Given the description of an element on the screen output the (x, y) to click on. 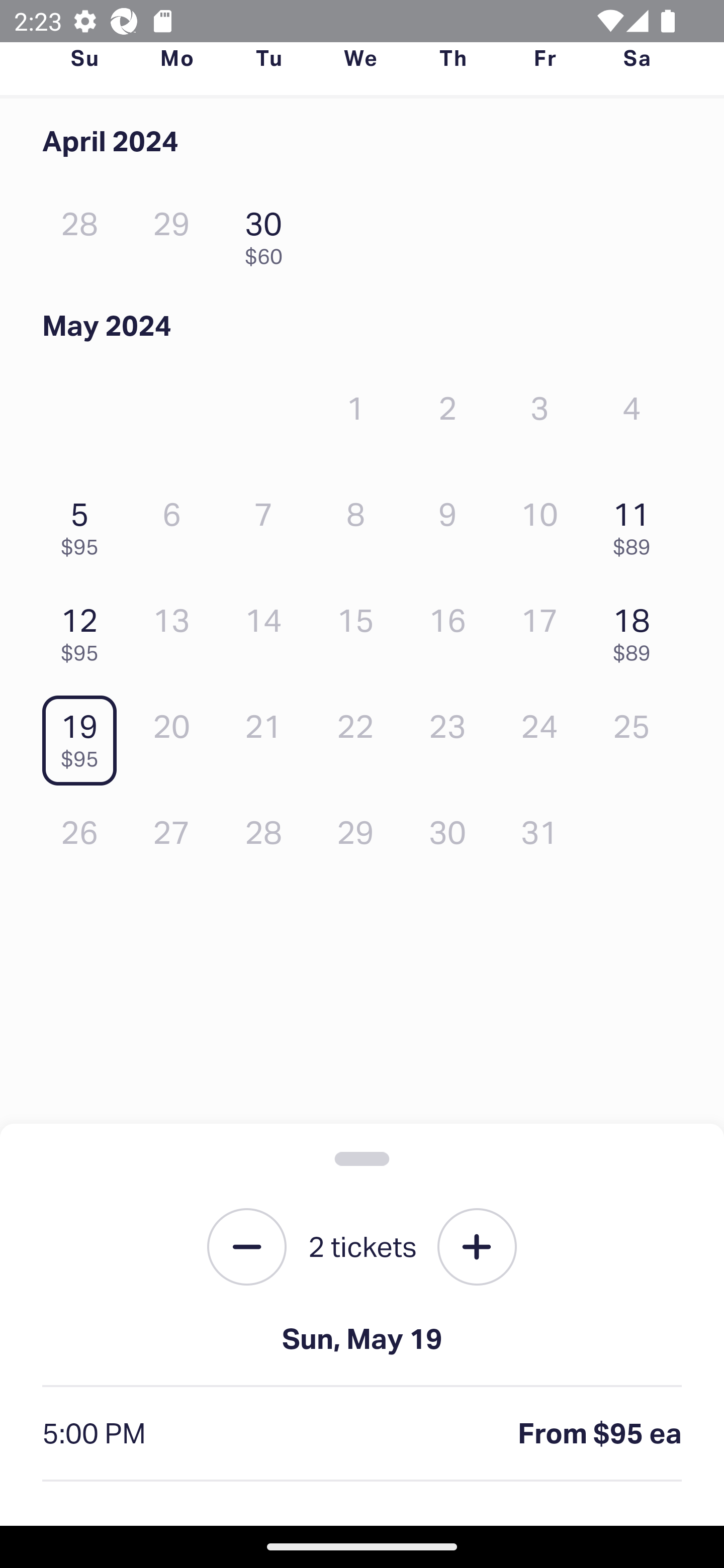
30 $60 (268, 232)
5 $95 (84, 524)
11 $89 (636, 524)
12 $95 (84, 629)
18 $89 (636, 629)
19 $95 (84, 735)
5:00 PM From $95 ea (361, 1434)
